Given the description of an element on the screen output the (x, y) to click on. 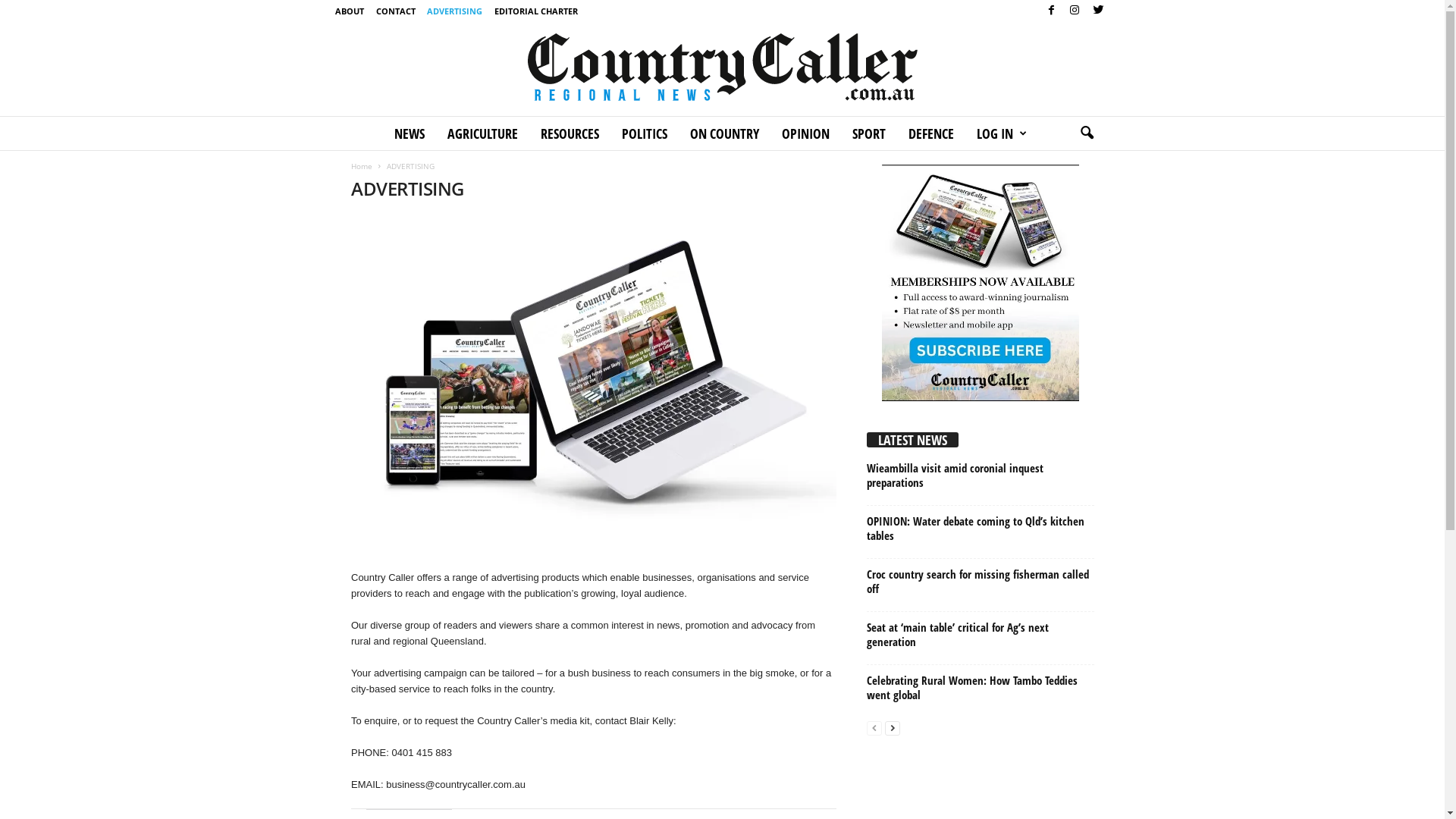
Instagram Element type: hover (1074, 10)
DEFENCE Element type: text (931, 133)
LOG IN Element type: text (1000, 133)
RESOURCES Element type: text (569, 133)
EDITORIAL CHARTER Element type: text (535, 10)
CONTACT Element type: text (395, 10)
Home Element type: text (361, 165)
NEWS Element type: text (409, 133)
Wieambilla visit amid coronial inquest preparations Element type: text (954, 474)
Celebrating Rural Women: How Tambo Teddies went global Element type: text (971, 687)
Facebook Element type: hover (1051, 10)
OPINION Element type: text (805, 133)
Croc country search for missing fisherman called off Element type: text (977, 581)
AGRICULTURE Element type: text (482, 133)
POLITICS Element type: text (644, 133)
Country Caller Element type: text (722, 66)
Country caller Element type: hover (722, 66)
ADVERTISING Element type: text (454, 10)
ABOUT Element type: text (349, 10)
ON COUNTRY Element type: text (724, 133)
Twitter Element type: hover (1097, 10)
SPORT Element type: text (868, 133)
